Given the description of an element on the screen output the (x, y) to click on. 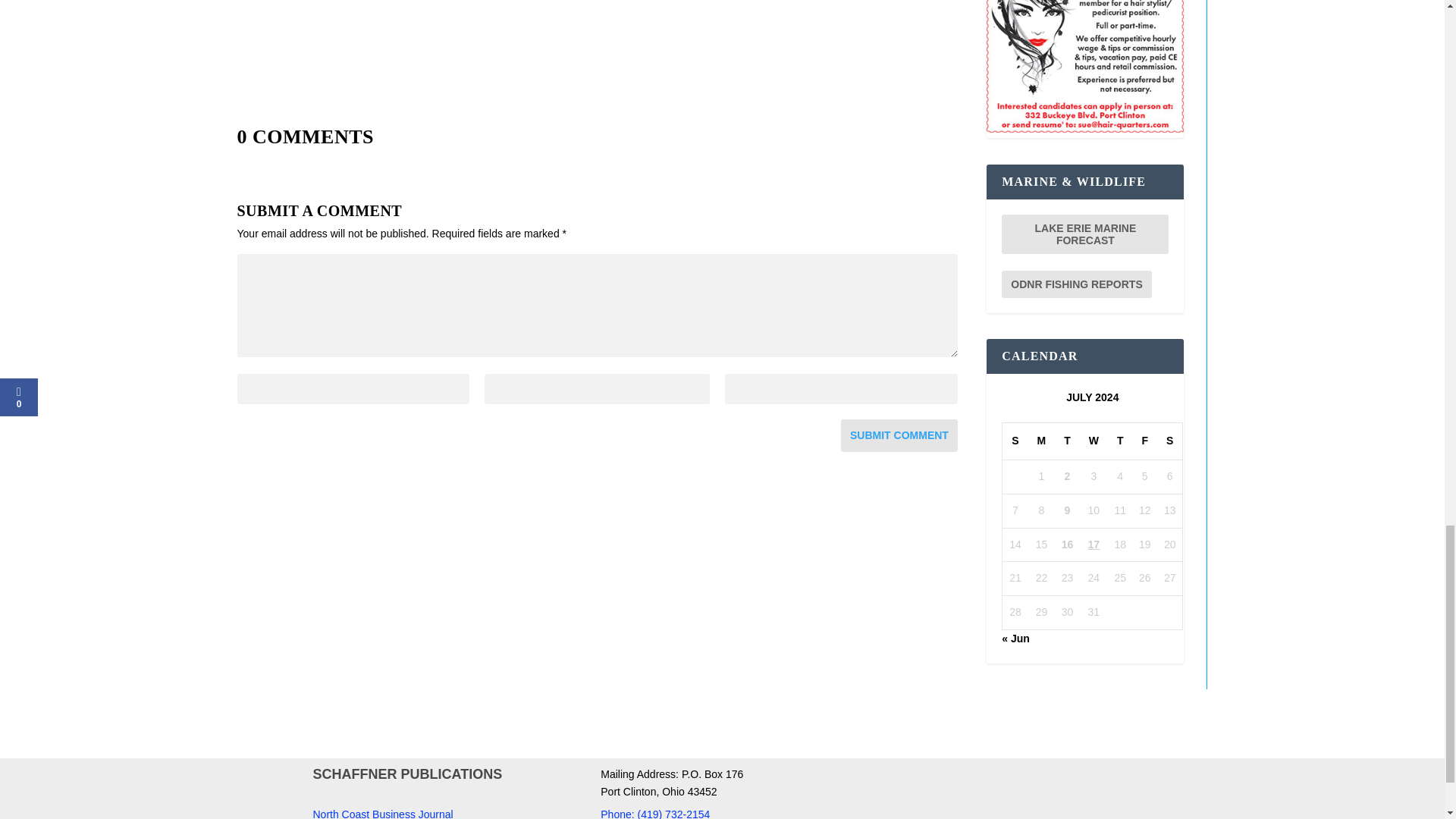
Saturday (1169, 441)
Tuesday (1067, 441)
Wednesday (1094, 441)
Friday (1144, 441)
Sunday (1015, 441)
Monday (1041, 441)
Thursday (1120, 441)
